Given the description of an element on the screen output the (x, y) to click on. 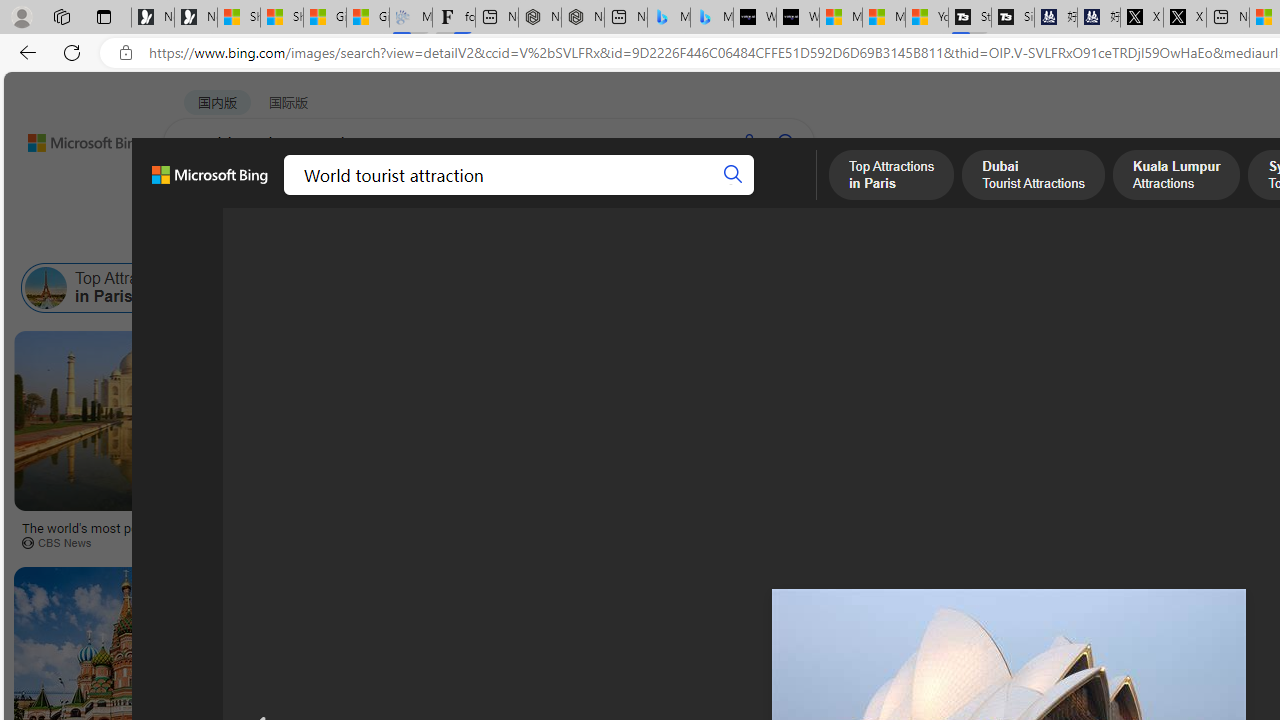
journeyz.co (671, 542)
MAPS (698, 195)
The world's most popular tourist attractions - CBS News (133, 534)
Microsoft Bing Travel - Shangri-La Hotel Bangkok (712, 17)
Dubai Tourist Attractions (308, 287)
Color (305, 237)
IMAGES (274, 195)
